Given the description of an element on the screen output the (x, y) to click on. 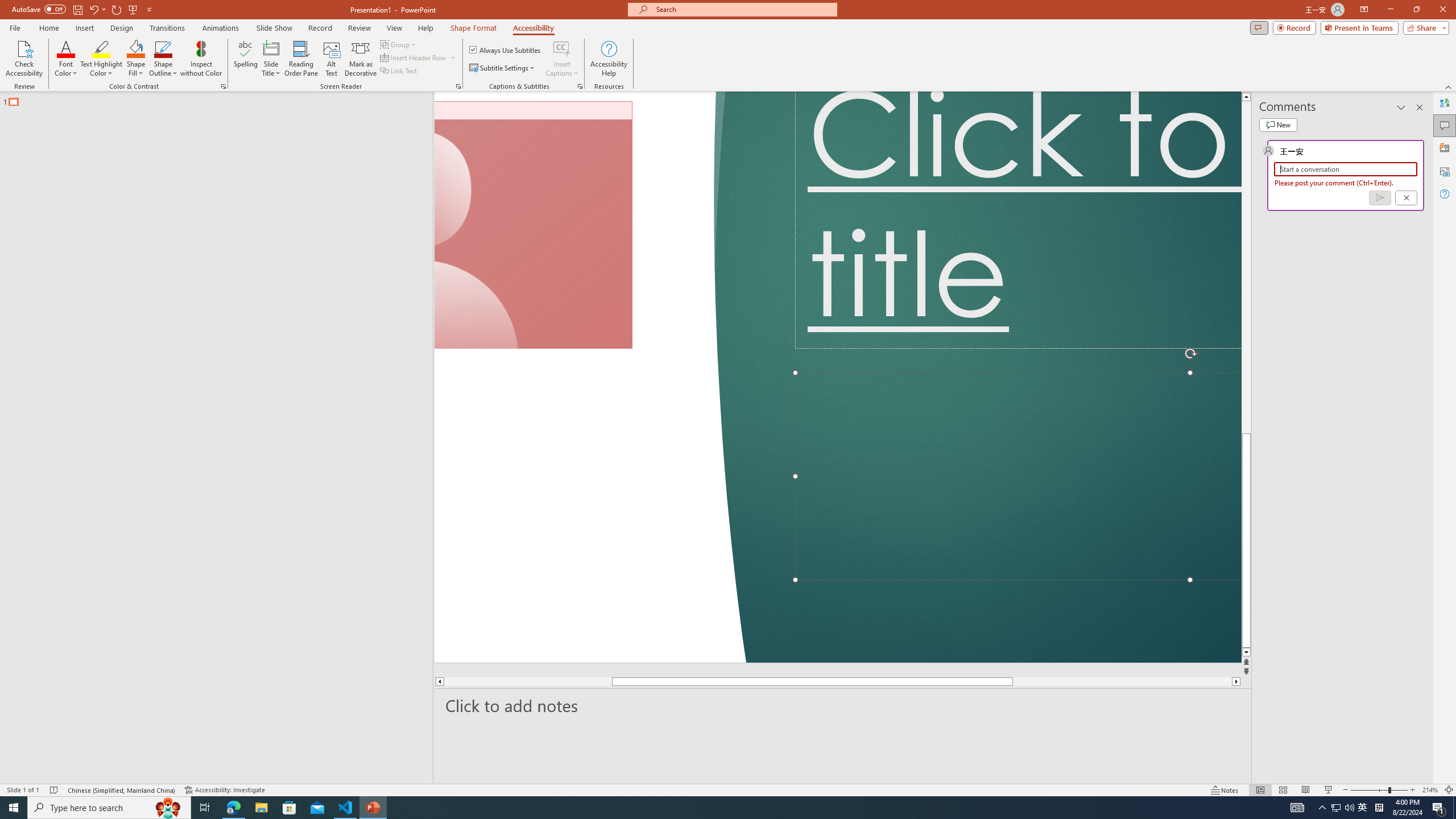
Task Pane Options (1402, 152)
AutomationID: DynamicSearchBoxGleamImage (647, 800)
Help (708, 47)
Class: MsoCommandBar (728, 773)
OfficePLUS (132, 47)
References (393, 47)
Bullets (407, 77)
Web Layout (1287, 773)
Grow Font (244, 77)
Read Mode (1219, 773)
Find (1078, 72)
Class: NetUIScrollBar (1164, 450)
